Given the description of an element on the screen output the (x, y) to click on. 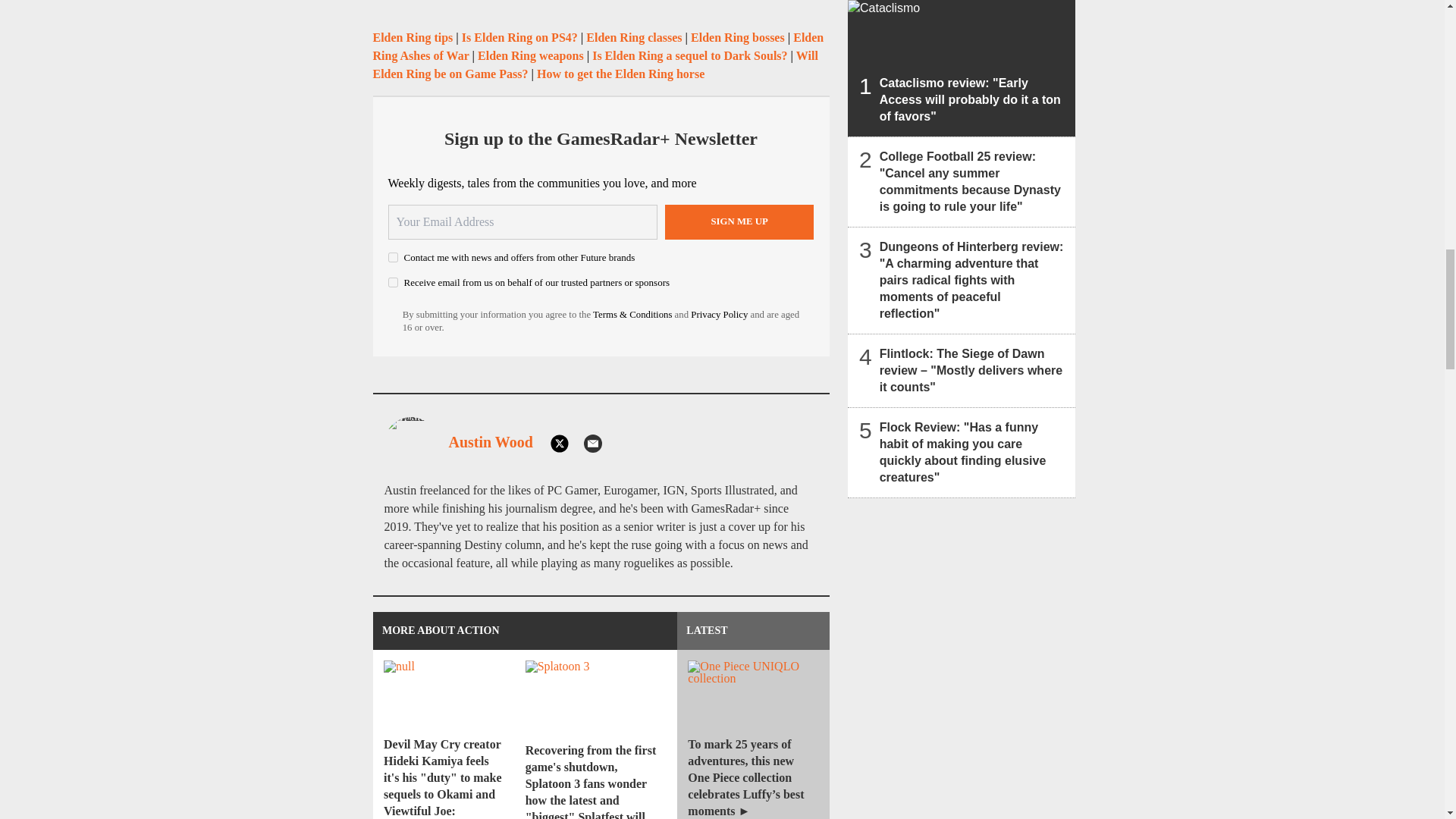
on (392, 282)
on (392, 257)
Sign me up (739, 221)
